Given the description of an element on the screen output the (x, y) to click on. 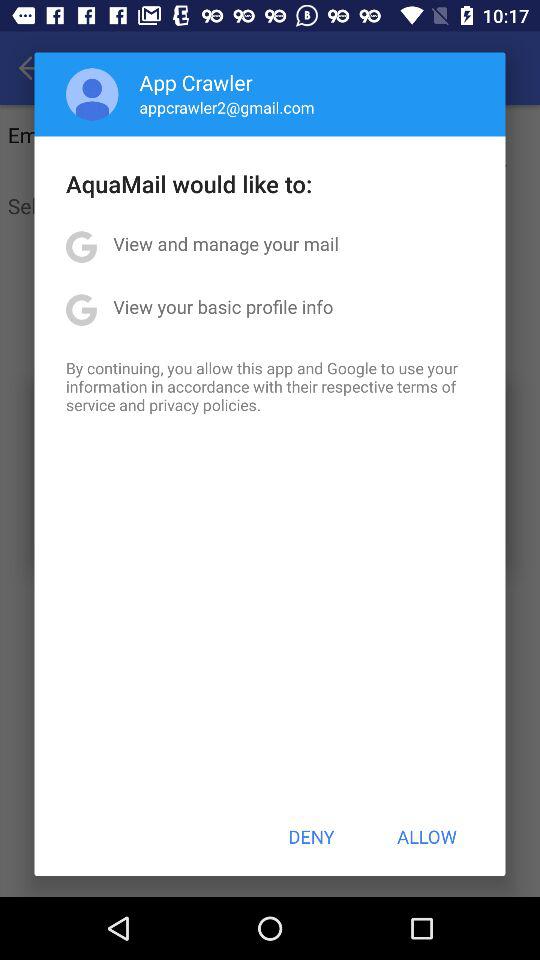
open the deny icon (311, 836)
